Given the description of an element on the screen output the (x, y) to click on. 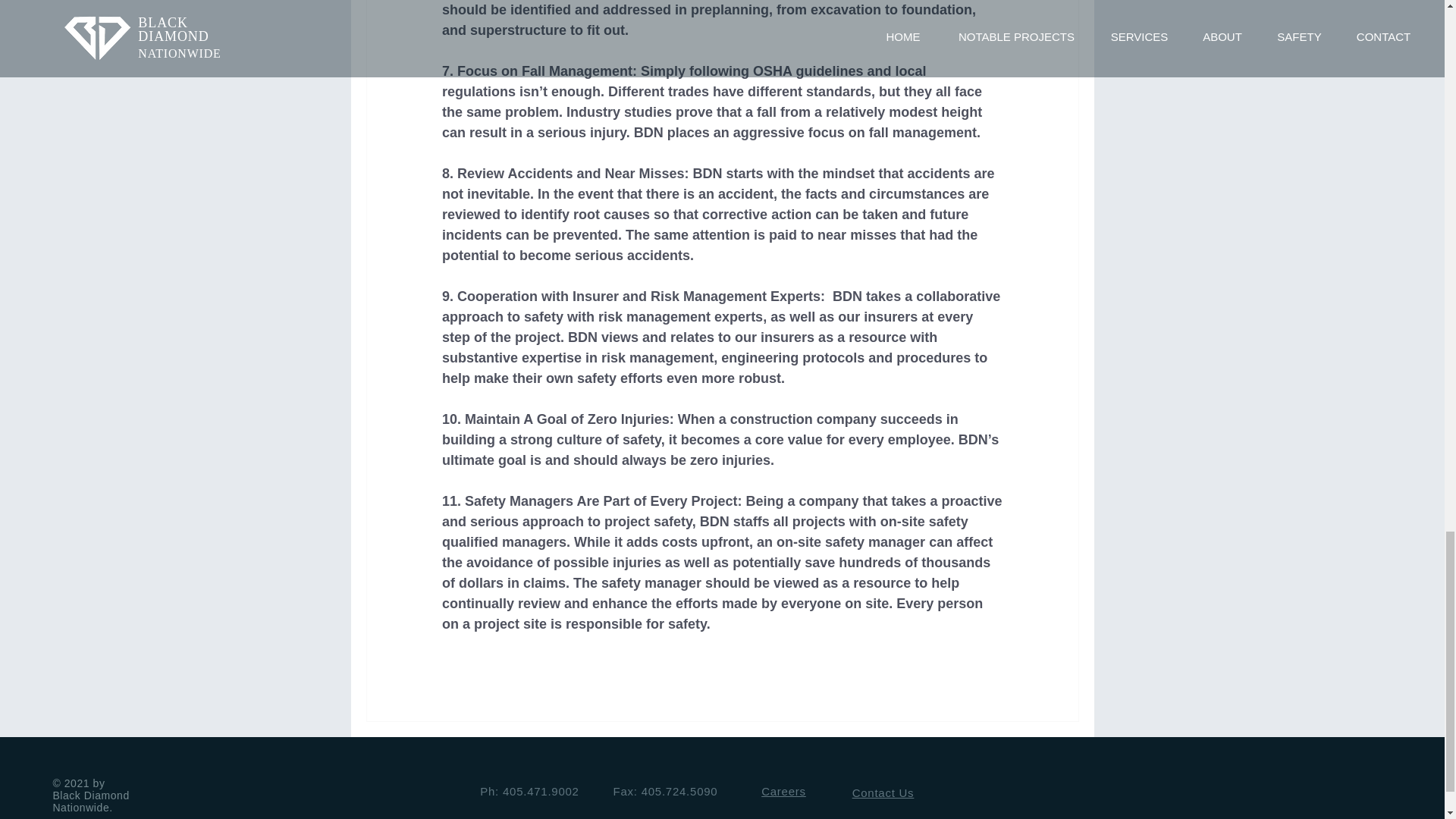
Contact Us (882, 792)
Careers (783, 790)
